Given the description of an element on the screen output the (x, y) to click on. 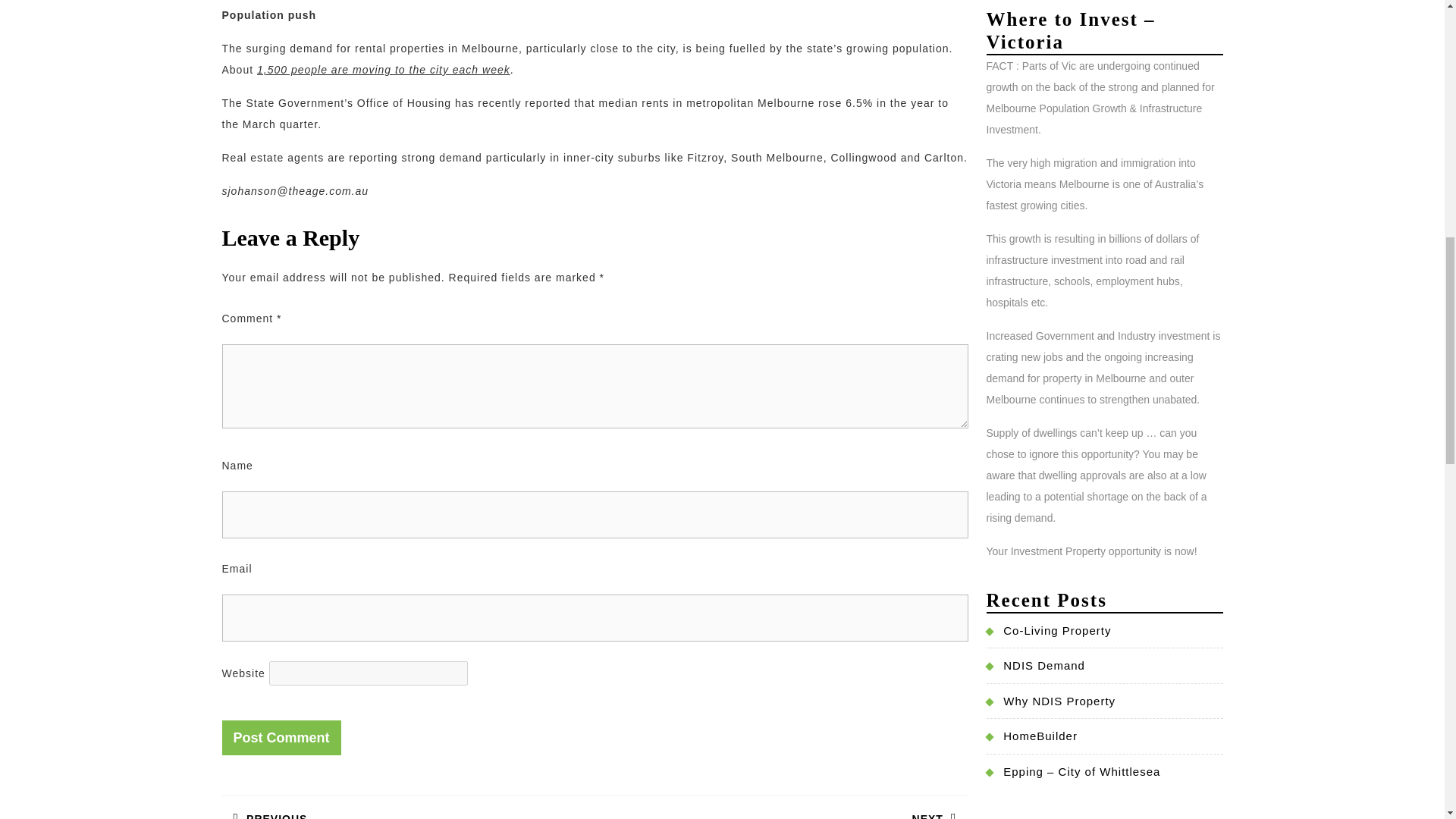
Post Comment (280, 737)
